Given the description of an element on the screen output the (x, y) to click on. 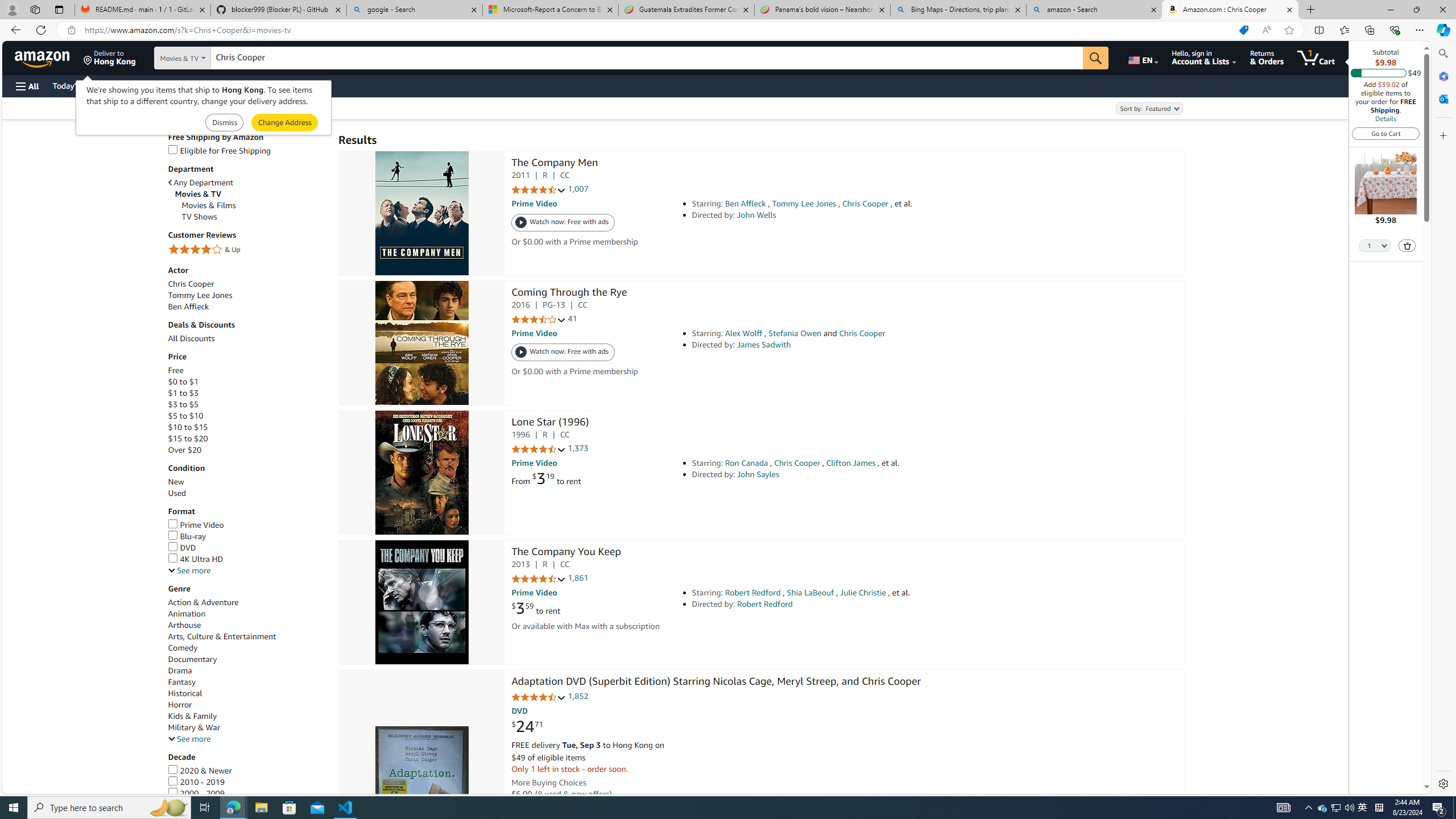
$0 to $1 (247, 381)
Over $20 (247, 450)
Free (175, 370)
Watch now: Free with ads (563, 352)
Fantasy (181, 681)
Animation (247, 614)
Go back to filtering menu (48, 788)
1,373 (577, 447)
Tommy Lee Jones (247, 295)
4K Ultra HD (247, 559)
